Given the description of an element on the screen output the (x, y) to click on. 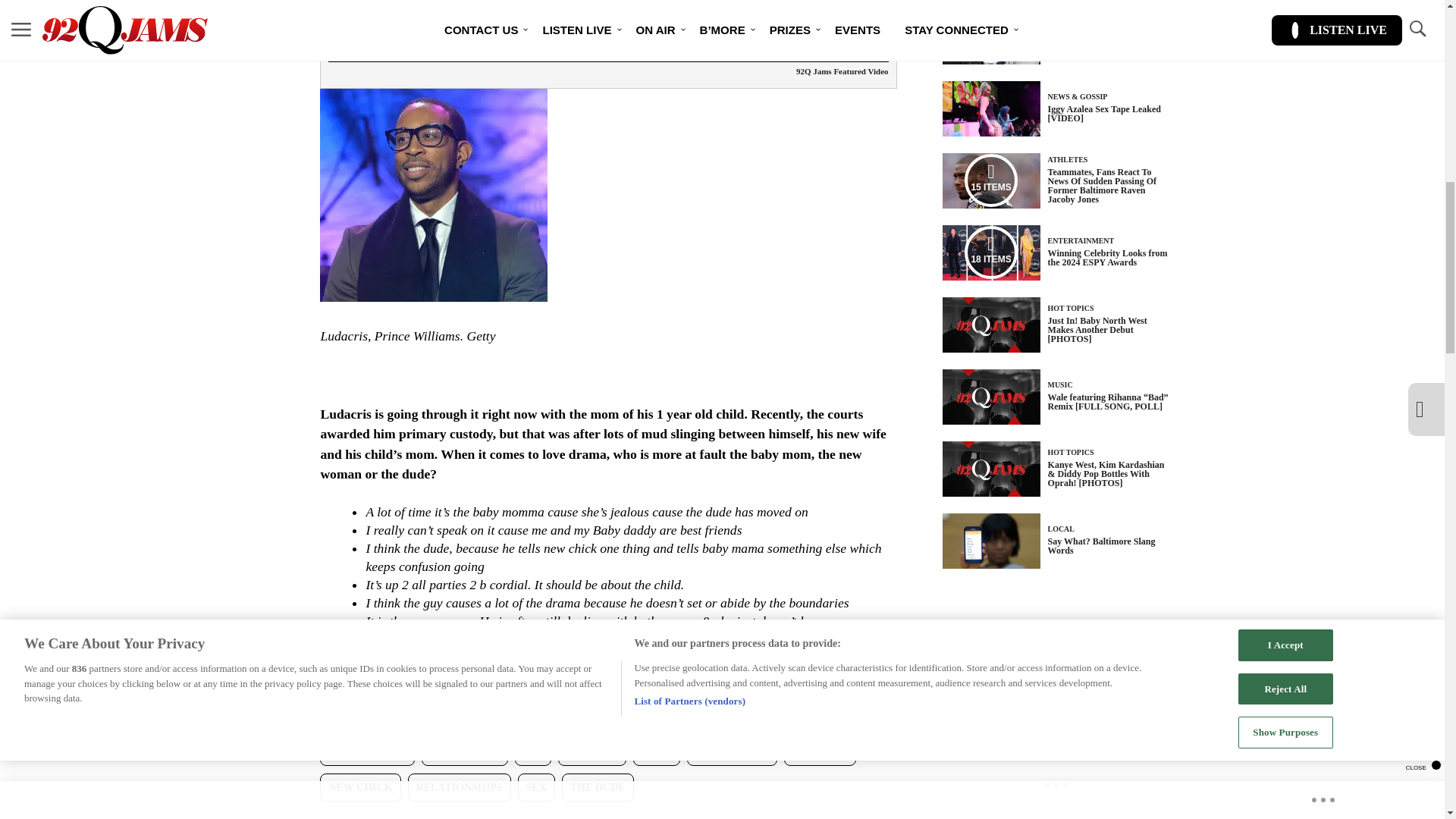
Media Playlist (990, 36)
Vuukle Sharebar Widget (585, 814)
Media Playlist (990, 180)
Media Playlist (990, 252)
